Given the description of an element on the screen output the (x, y) to click on. 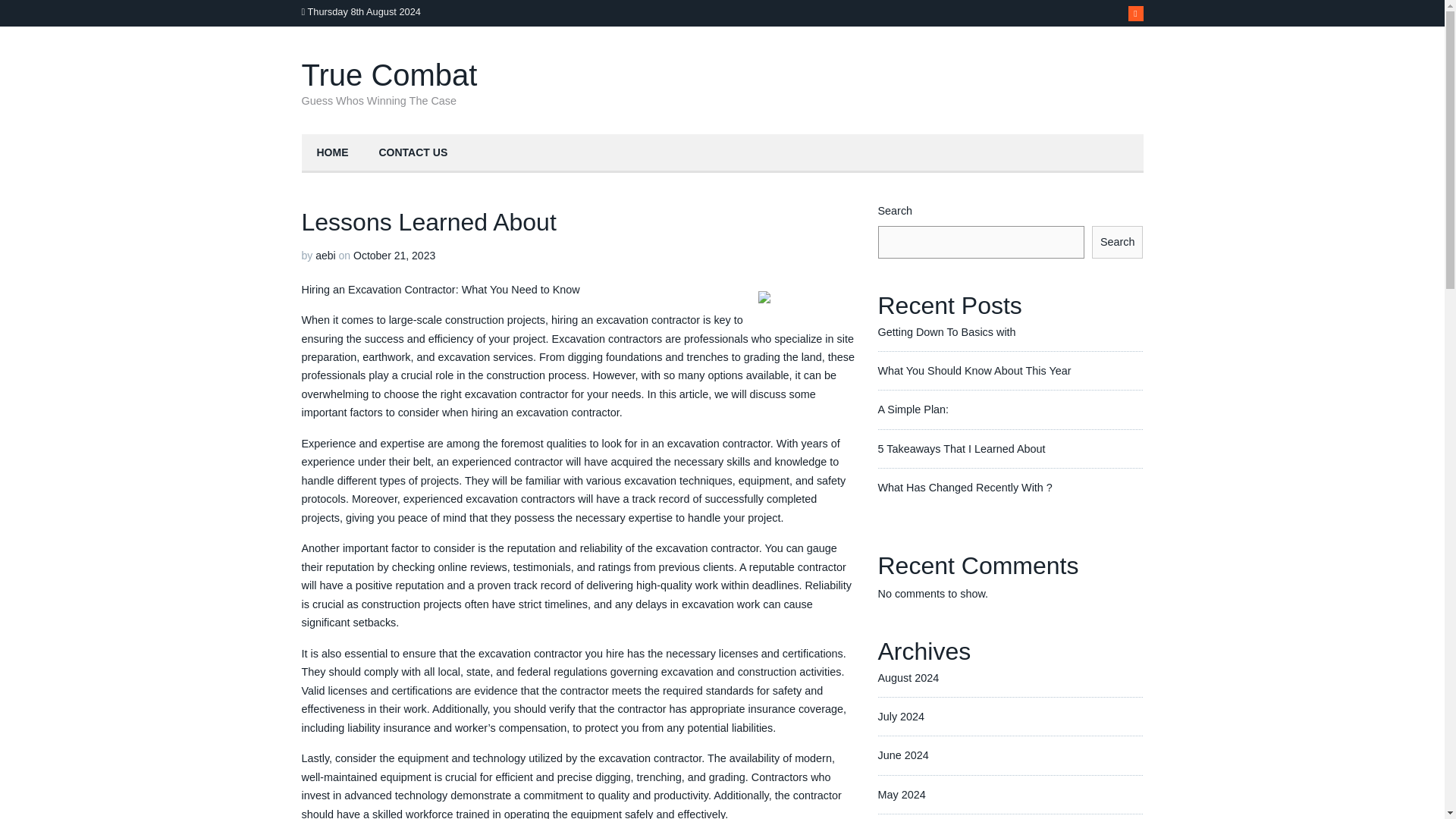
May 2024 (901, 794)
True Combat (389, 74)
June 2024 (902, 755)
HOME (332, 153)
A Simple Plan: (913, 409)
What You Should Know About This Year (974, 370)
October 21, 2023 (394, 255)
aebi (324, 255)
True Combat (389, 74)
What Has Changed Recently With ? (964, 487)
